Given the description of an element on the screen output the (x, y) to click on. 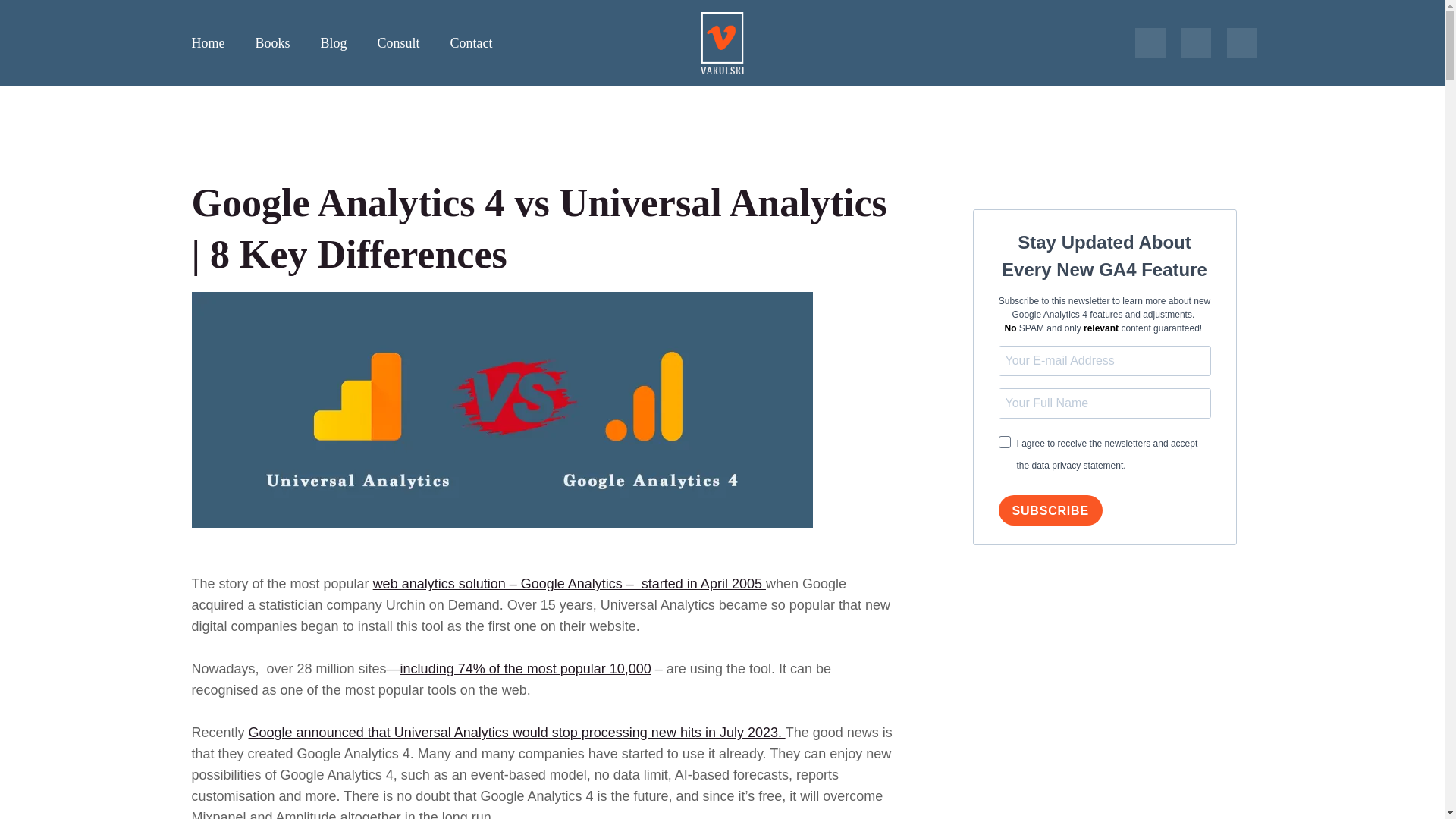
Consult (398, 43)
Contact (471, 43)
Search (1242, 42)
VakulskiGroup (694, 89)
